Given the description of an element on the screen output the (x, y) to click on. 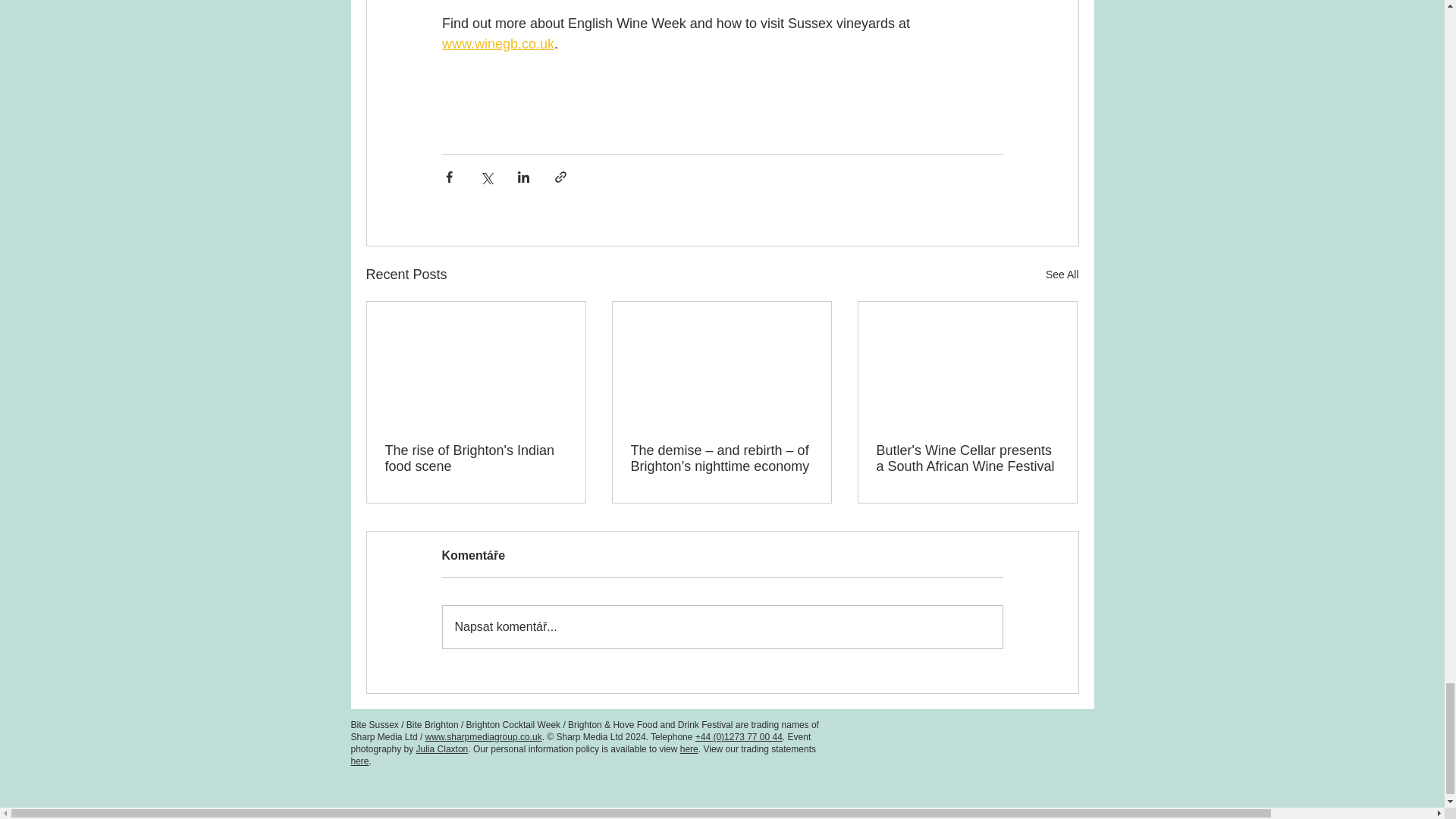
The rise of Brighton's Indian food scene (476, 459)
Butler's Wine Cellar presents a South African Wine Festival (967, 459)
Julia Claxton (442, 748)
here (359, 760)
here (688, 748)
www.winegb.co.uk (497, 43)
www.sharpmediagroup.co.uk (483, 737)
See All (1061, 274)
